Given the description of an element on the screen output the (x, y) to click on. 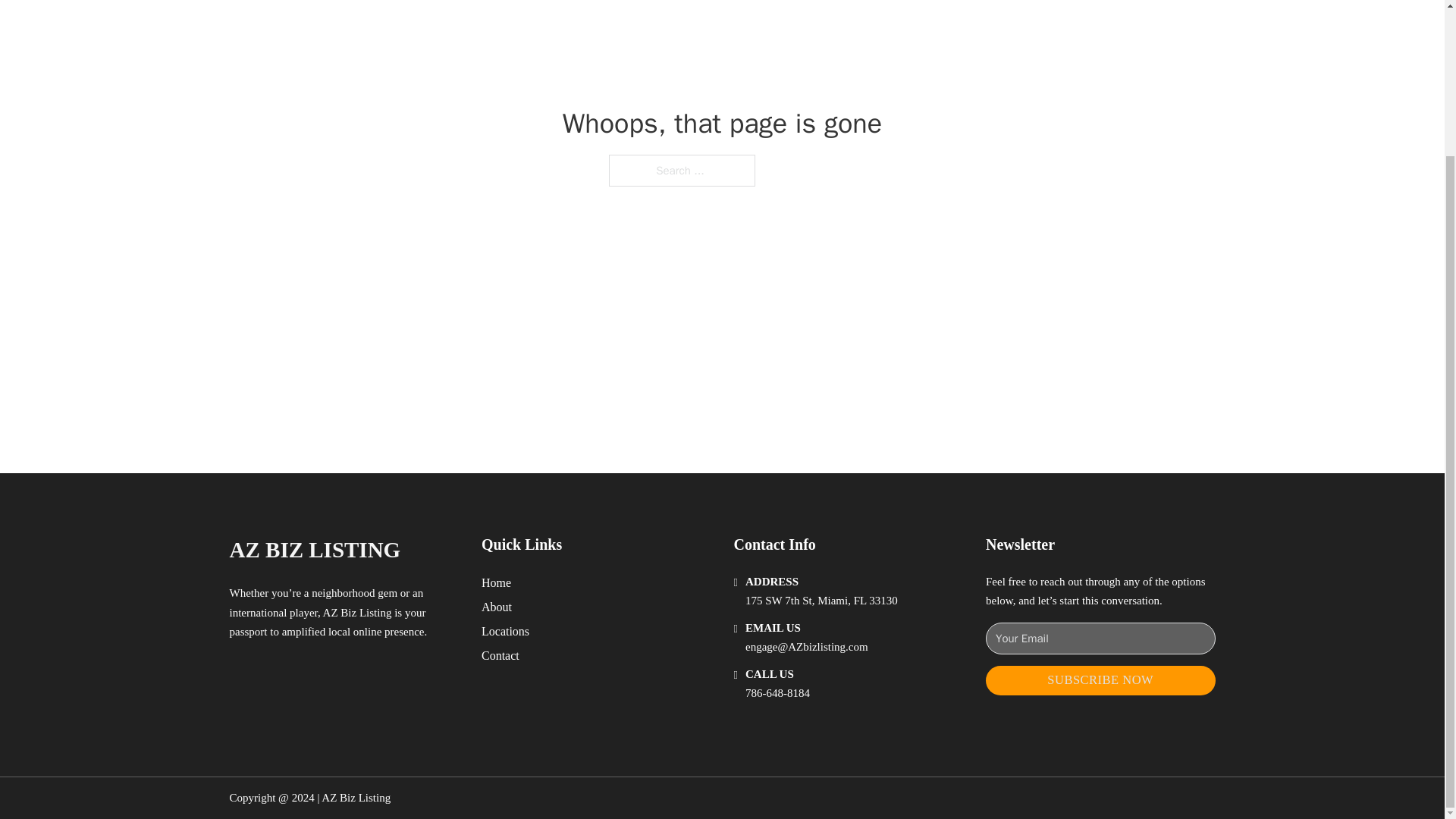
Contact (500, 655)
AZ BIZ LISTING (314, 549)
Home (496, 582)
Locations (505, 630)
SUBSCRIBE NOW (1100, 680)
786-648-8184 (777, 693)
About (496, 607)
